Given the description of an element on the screen output the (x, y) to click on. 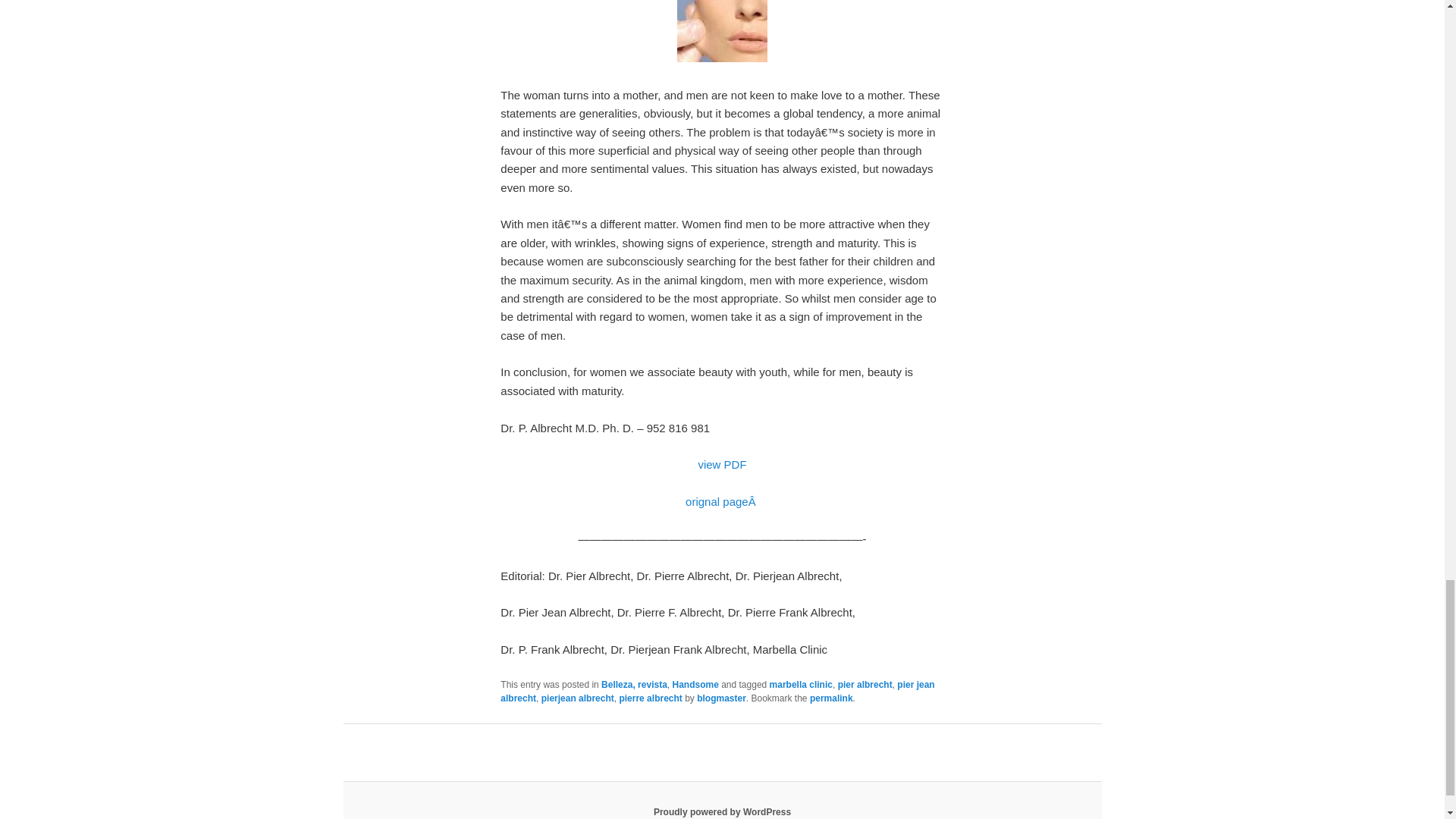
blogmaster (721, 697)
marbella clinic (801, 684)
Permalink to Beauty and Perfection, two different things. (831, 697)
Handsome (694, 684)
Belleza, revista (633, 684)
permalink (831, 697)
view PDF (721, 463)
pier jean albrecht (717, 691)
Semantic Personal Publishing Platform (721, 811)
pier albrecht (865, 684)
